Given the description of an element on the screen output the (x, y) to click on. 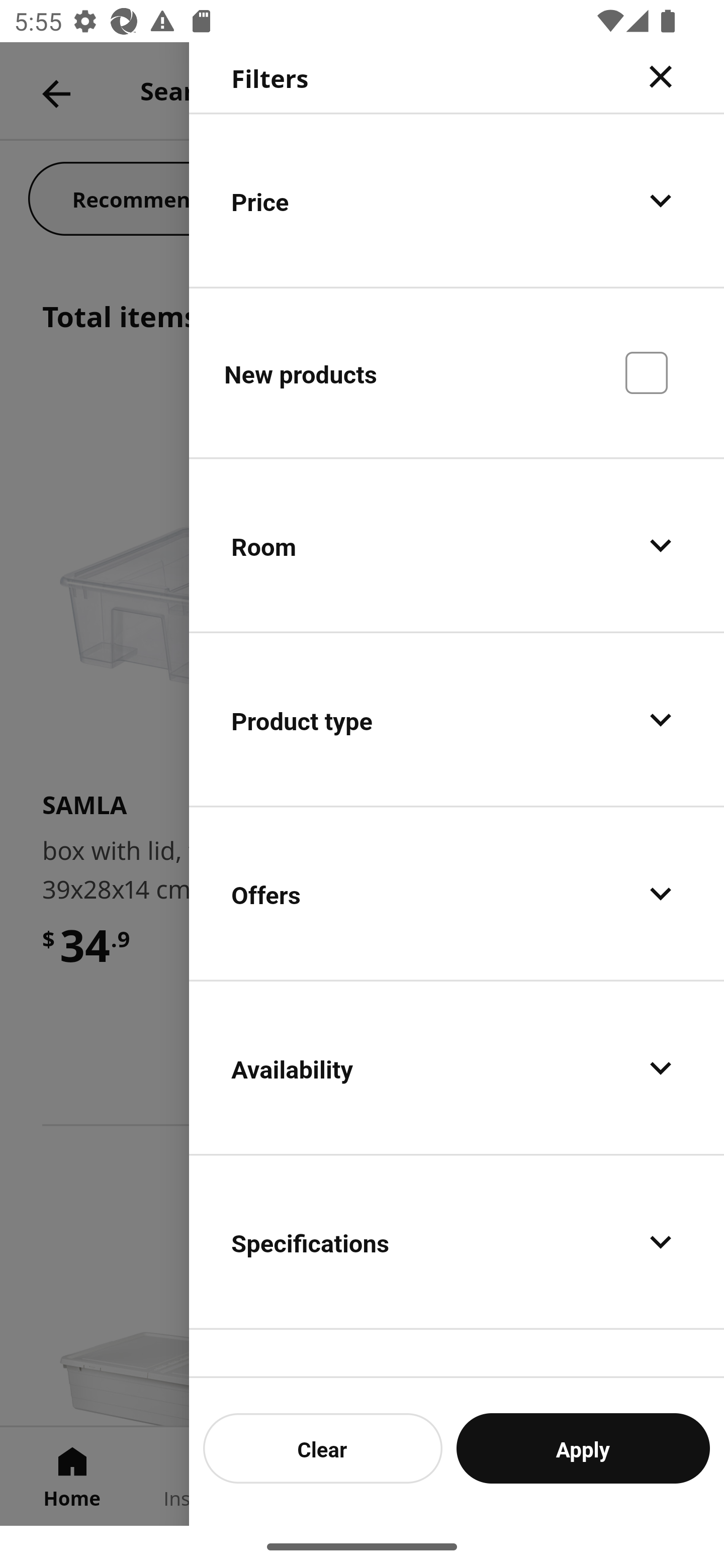
Price (456, 200)
New products (456, 371)
Room (456, 545)
Product type (456, 719)
Offers (456, 893)
Availability (456, 1067)
Specifications (456, 1241)
Clear (322, 1447)
Apply (583, 1447)
